Given the description of an element on the screen output the (x, y) to click on. 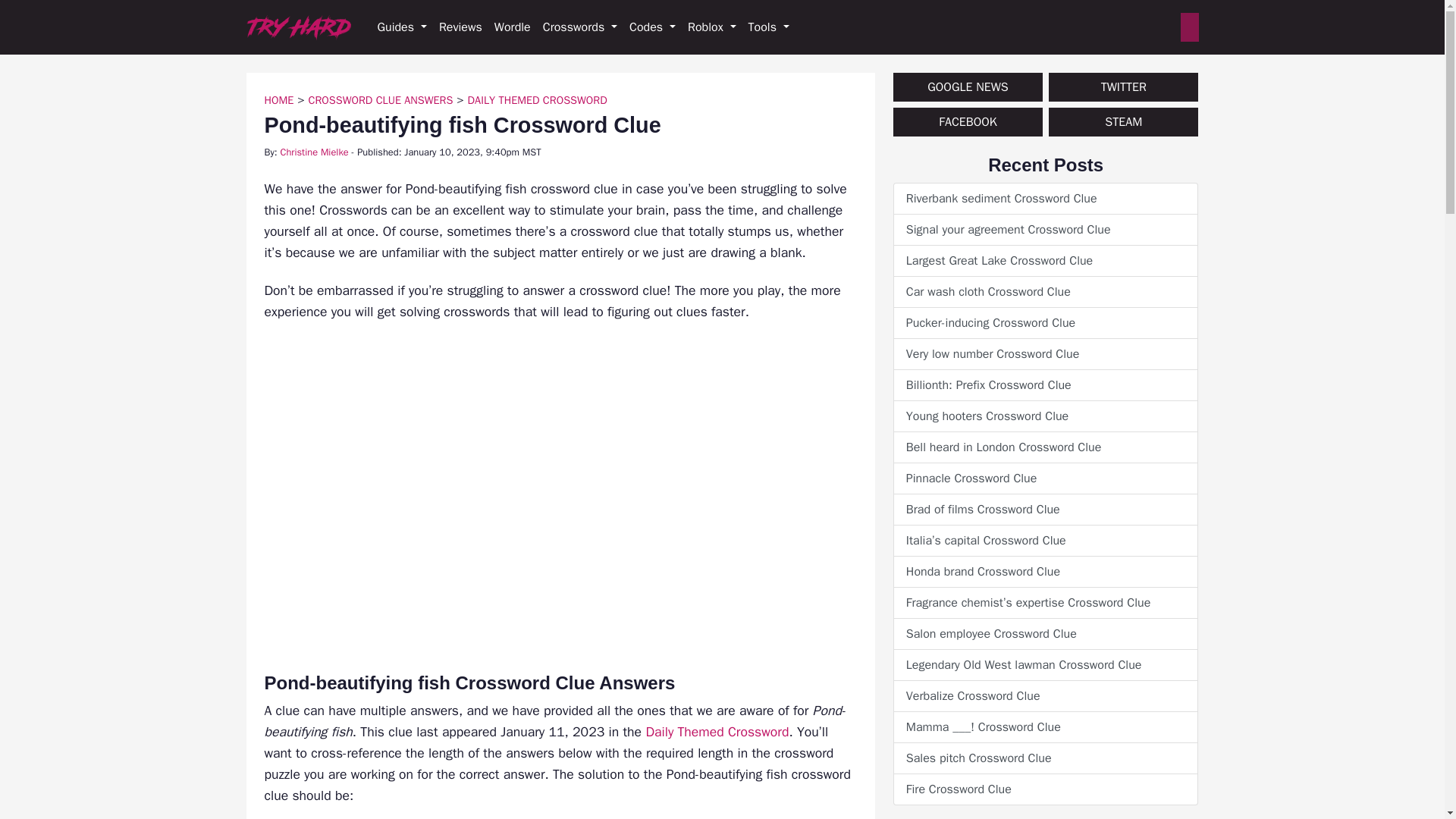
Try Hard Guides (298, 27)
Wordle (512, 27)
Reviews (459, 27)
Crosswords (580, 27)
Guides (401, 27)
Codes (652, 27)
Roblox (711, 27)
